Given the description of an element on the screen output the (x, y) to click on. 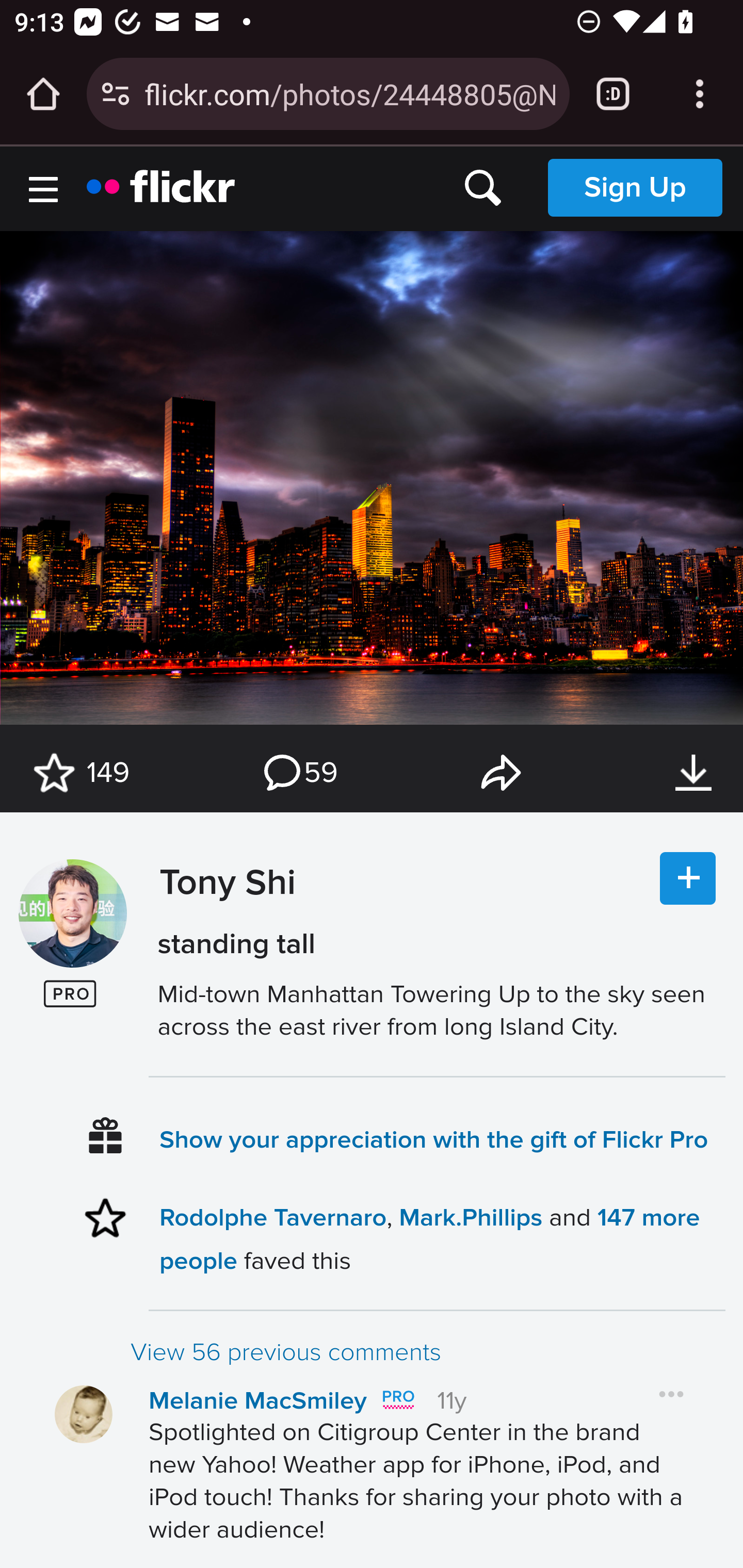
Open the home page (43, 93)
Connection is secure (115, 93)
Switch or close tabs (612, 93)
Customize and control Google Chrome (699, 93)
flickr.com/photos/24448805@N07/2909441524 (349, 92)
Sign Up Sign Up Sign Up (634, 187)
59 (299, 772)
Download this photo (692, 772)
Follow (687, 878)
tonyshi (72, 914)
Show your appreciation with the gift of Flickr Pro (434, 1138)
147 more people (429, 1238)
View 56 previous comments (427, 1352)
macsmiley (83, 1414)
Melanie MacSmiley (257, 1400)
Flickr ♥ our Old School Pros (397, 1399)
